Given the description of an element on the screen output the (x, y) to click on. 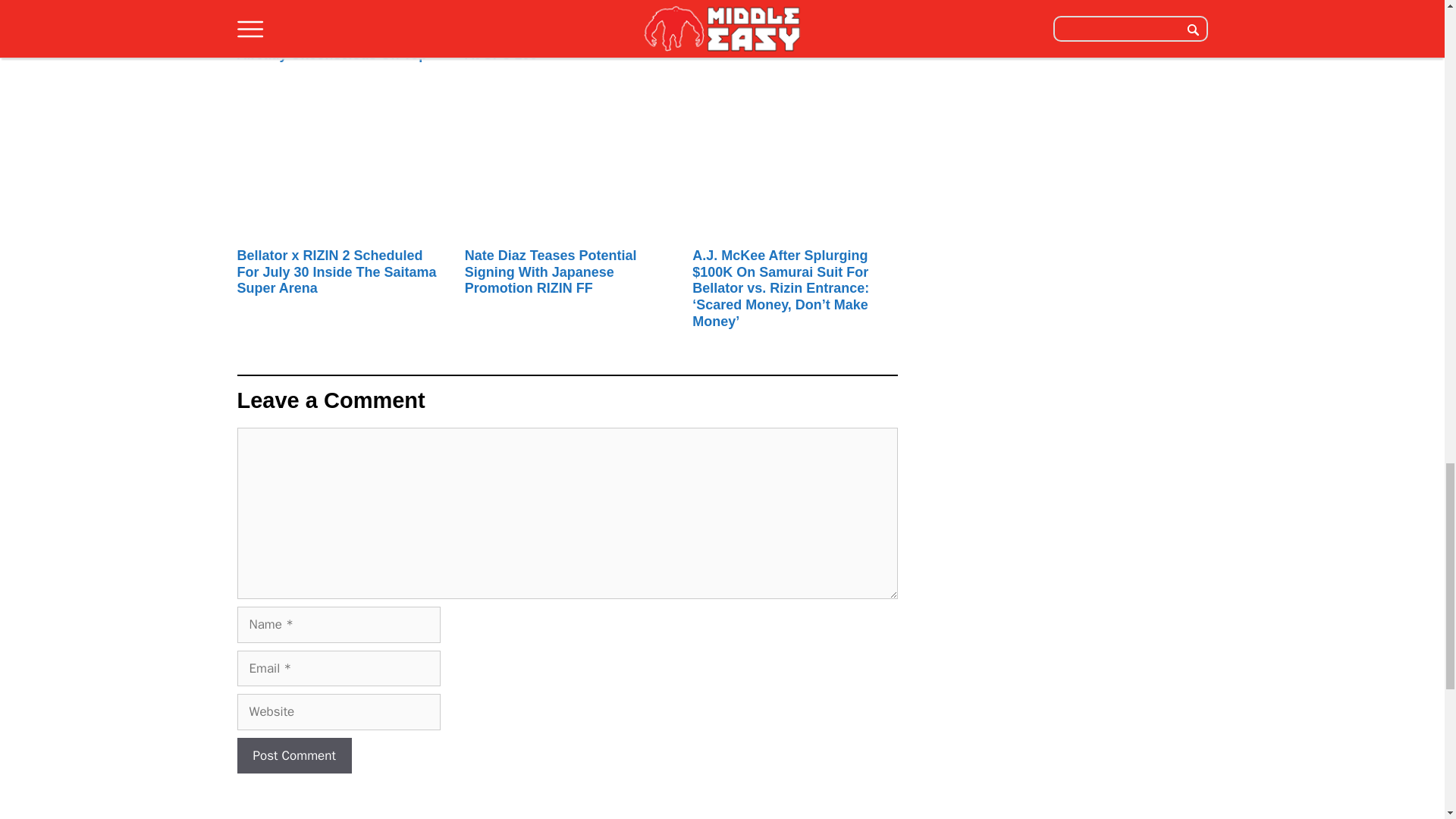
Post Comment (292, 755)
